Given the description of an element on the screen output the (x, y) to click on. 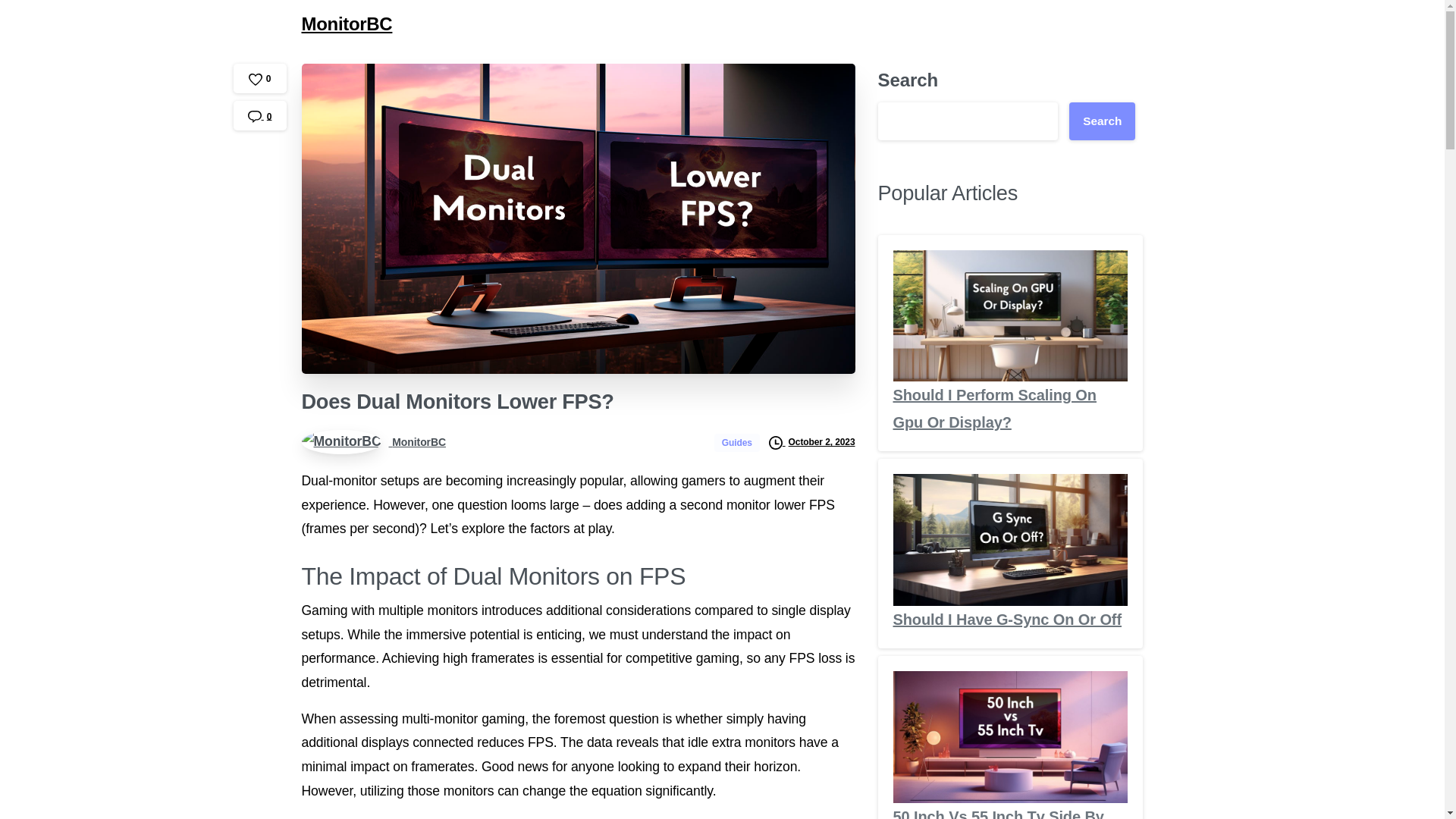
50 Inch Vs 55 Inch Tv Side By Side (998, 813)
Search (1101, 121)
Should I Have G-Sync On Or Off (1007, 619)
October 2, 2023 (812, 441)
Like this (259, 78)
Should I Perform Scaling On Gpu Or Display? (994, 408)
MonitorBC (373, 441)
Guides (738, 441)
MonitorBC (347, 23)
0 (259, 78)
0 (259, 115)
